Given the description of an element on the screen output the (x, y) to click on. 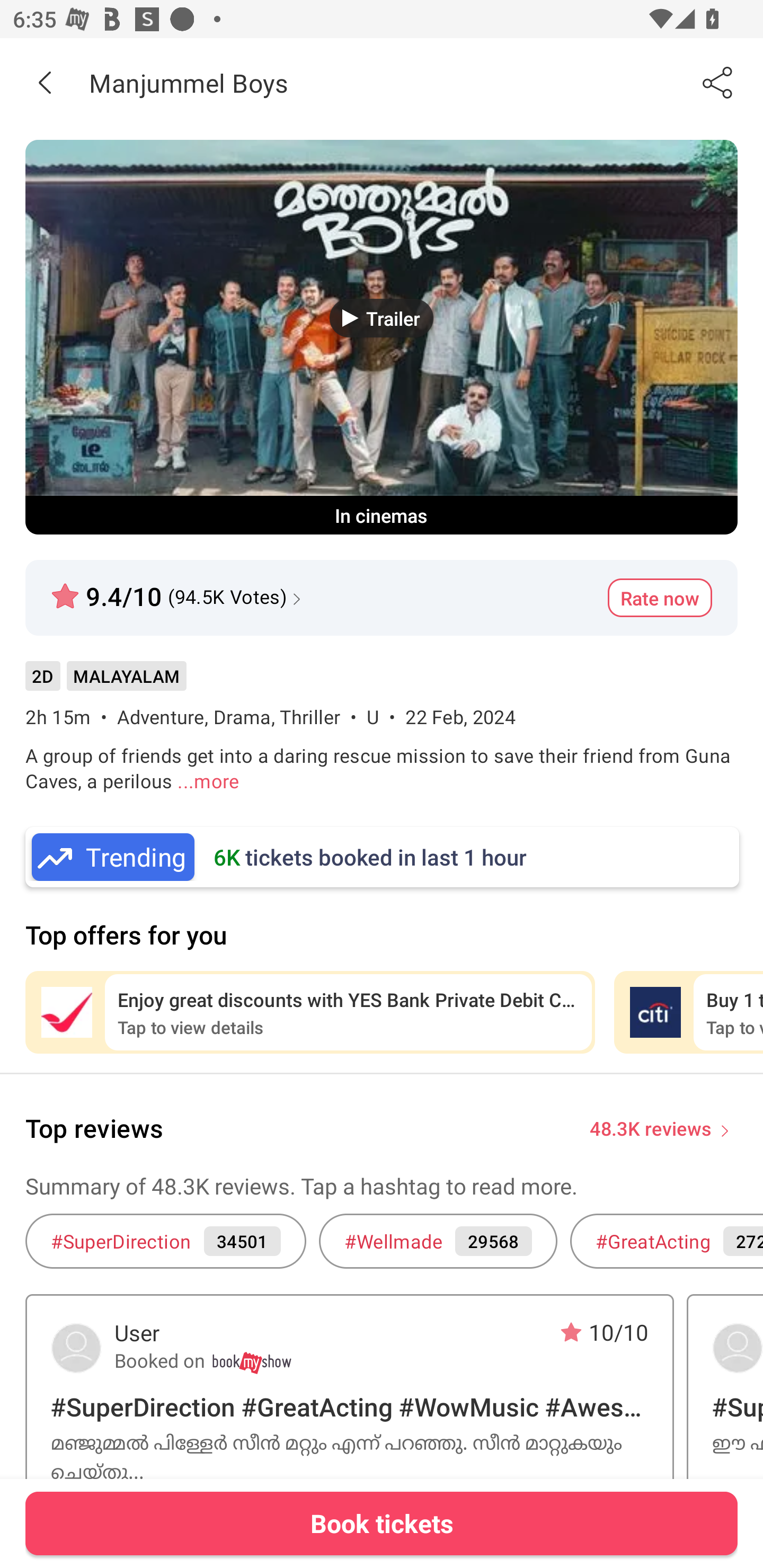
Back (44, 82)
Share (718, 82)
Movie Banner Trailer In cinemas (381, 336)
Trailer (381, 318)
9.4/10 (94.5K Votes) (178, 589)
Rate now (659, 597)
2D MALAYALAM (105, 682)
48.3K reviews (650, 1127)
#SuperDirection 34501 (165, 1240)
#Wellmade 29568 (437, 1240)
#GreatActing 27287 (666, 1240)
Book tickets (381, 1523)
